Given the description of an element on the screen output the (x, y) to click on. 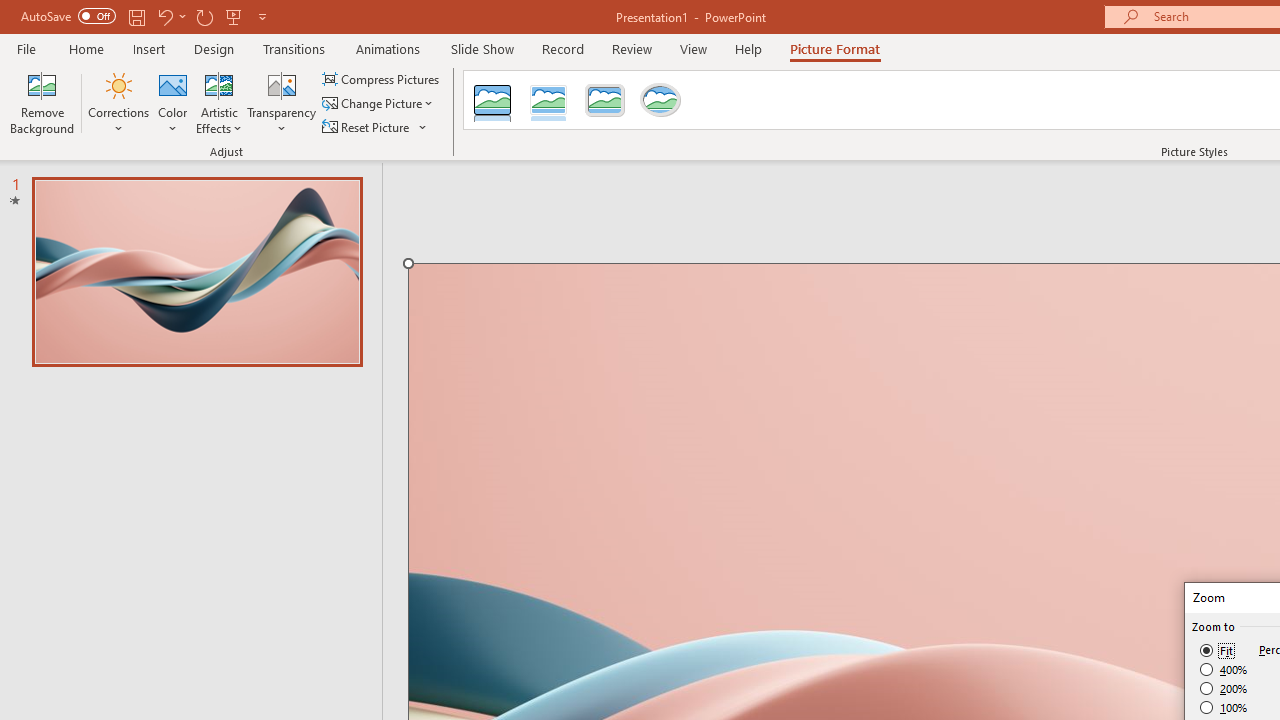
Transparency (281, 102)
Fit (1217, 650)
Remove Background (41, 102)
400% (1224, 669)
Compress Pictures... (381, 78)
Metal Rounded Rectangle (605, 100)
